Given the description of an element on the screen output the (x, y) to click on. 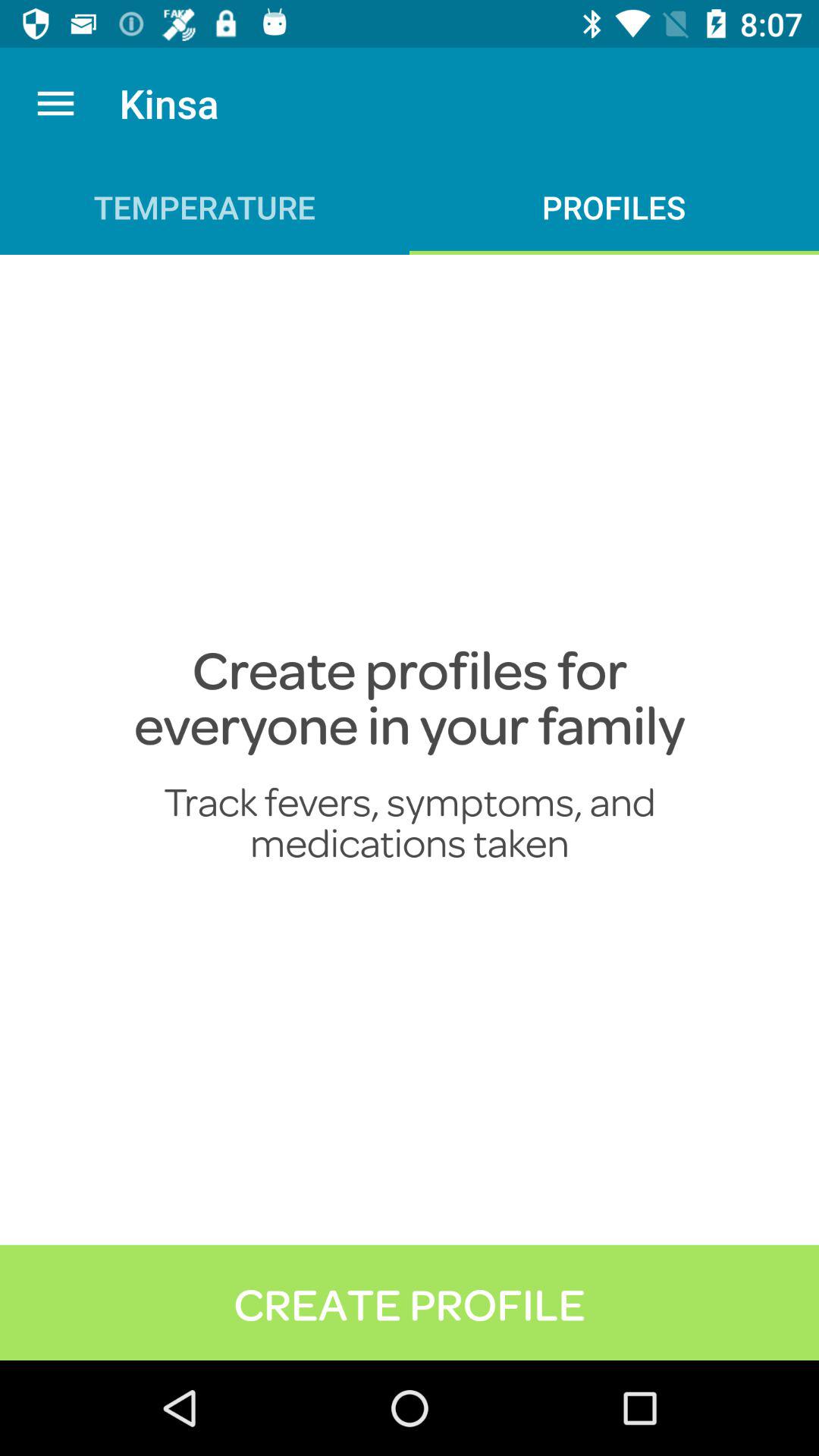
choose the item above temperature (55, 103)
